Given the description of an element on the screen output the (x, y) to click on. 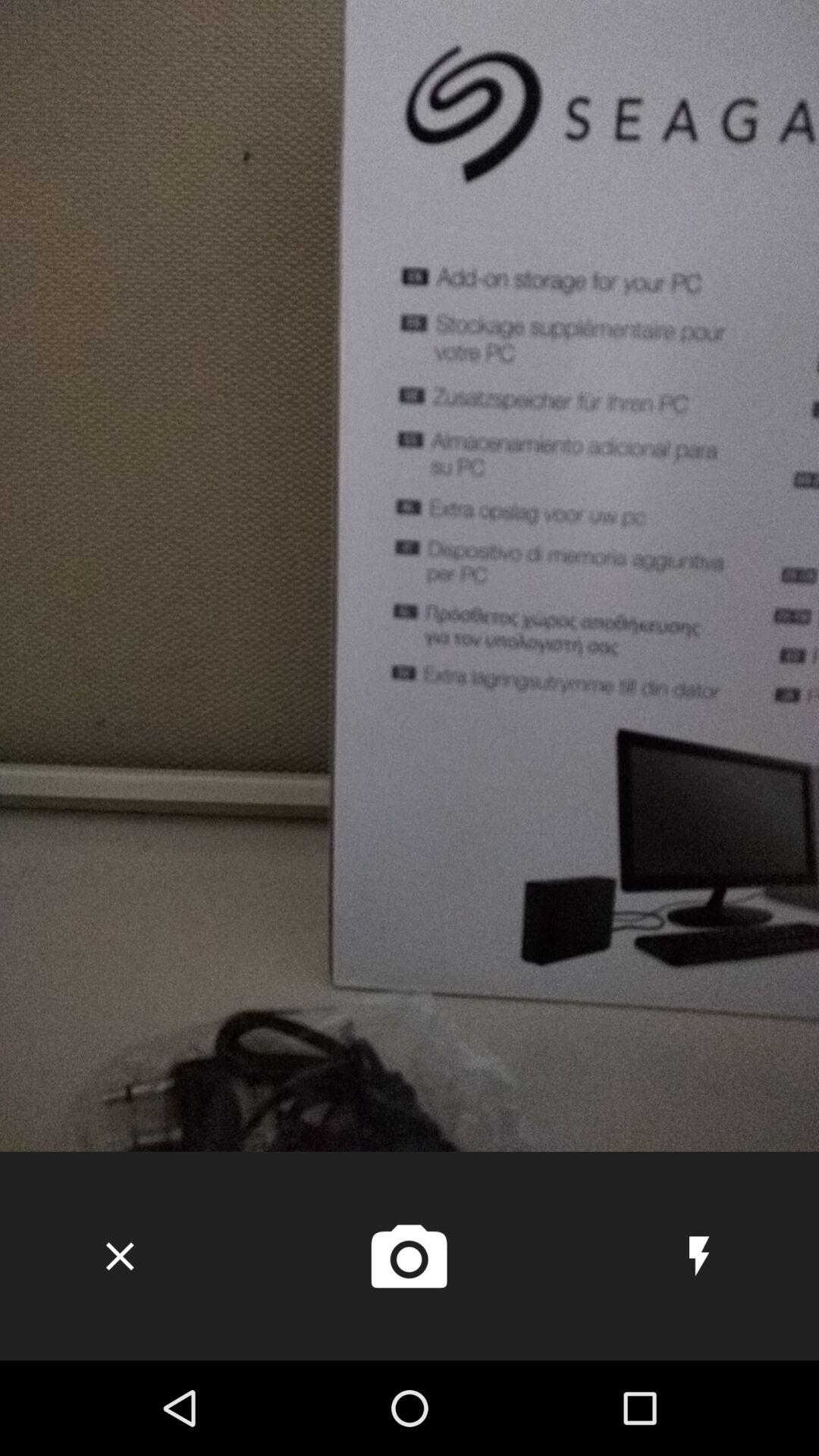
tap item at the bottom left corner (119, 1255)
